Given the description of an element on the screen output the (x, y) to click on. 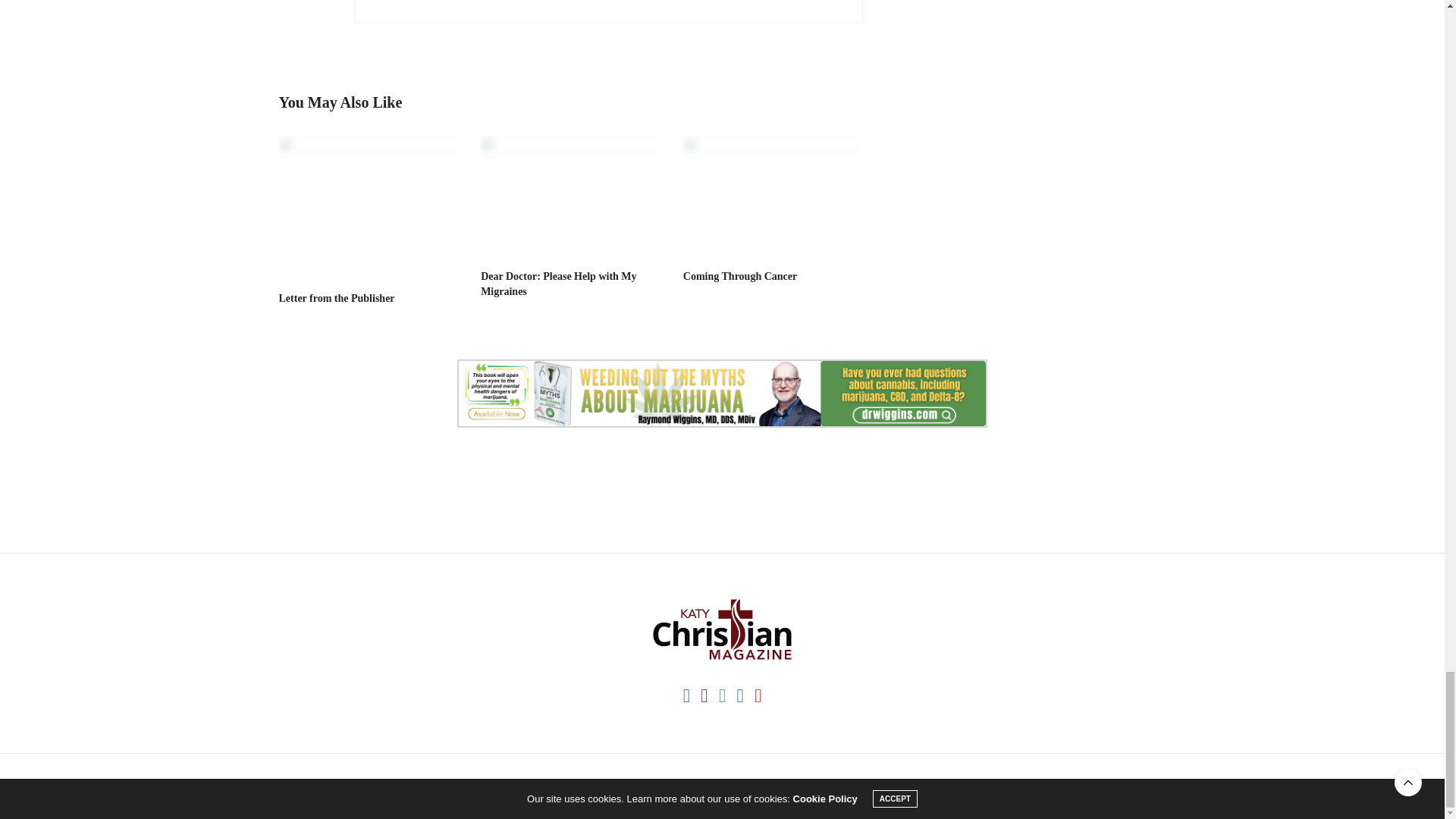
Coming Through Cancer (739, 276)
Letter from the Publisher (368, 205)
Dear Doctor: Please Help with My Migraines (558, 284)
Coming Through Cancer (772, 195)
Katy Christian Magazine (722, 629)
Letter from the Publisher (336, 297)
Dear Doctor: Please Help with My Migraines (570, 195)
